Given the description of an element on the screen output the (x, y) to click on. 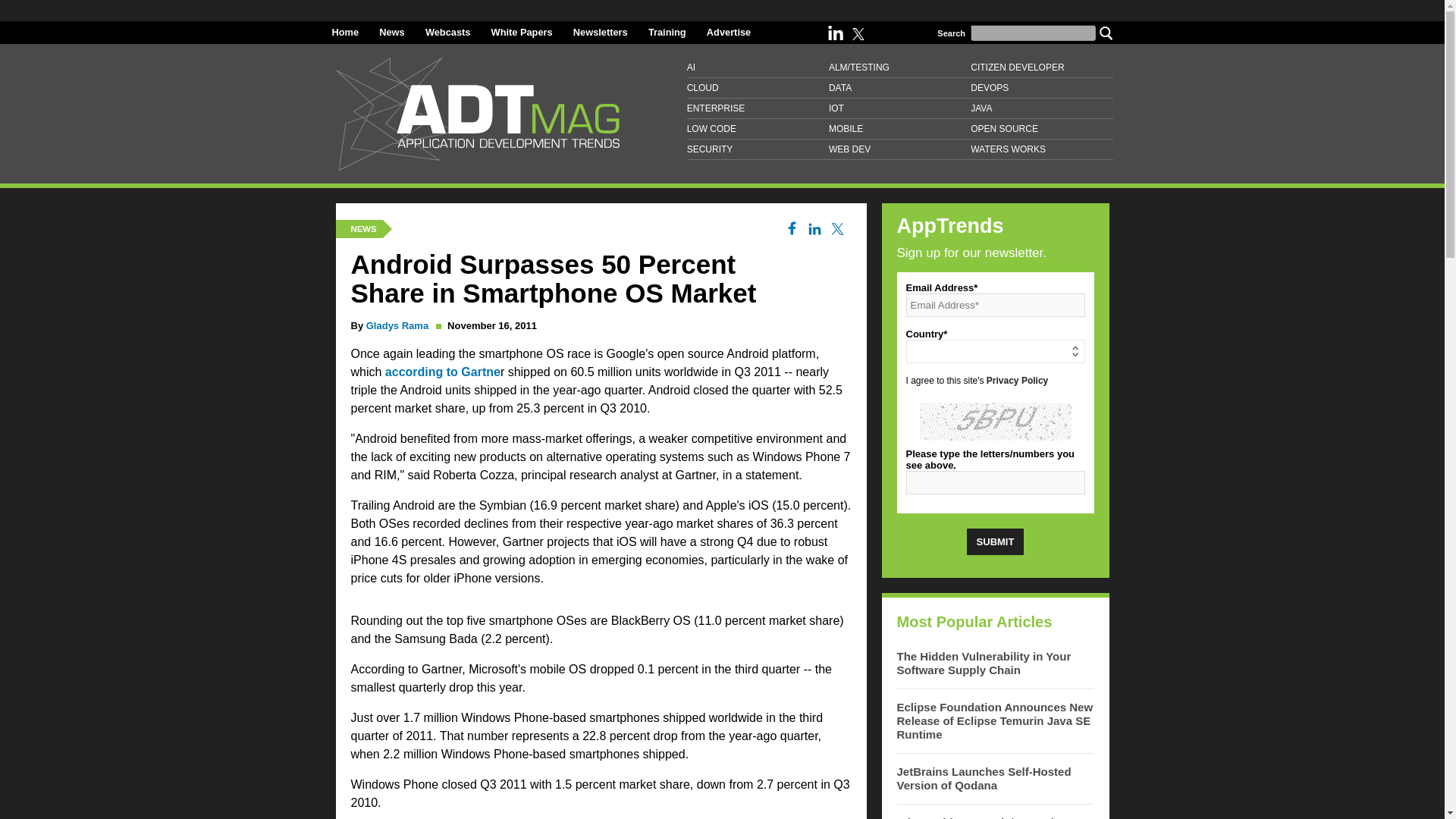
Gladys Rama (397, 325)
Advertise (728, 31)
White Papers (522, 31)
WATERS WORKS (1041, 149)
CITIZEN DEVELOPER (1041, 67)
NEWS (362, 228)
WEB DEV (899, 149)
MOBILE (899, 128)
Submit (995, 541)
Search (1106, 32)
Webcasts (447, 31)
Training (666, 31)
Search (1106, 32)
DEVOPS (1041, 87)
News (391, 31)
